Given the description of an element on the screen output the (x, y) to click on. 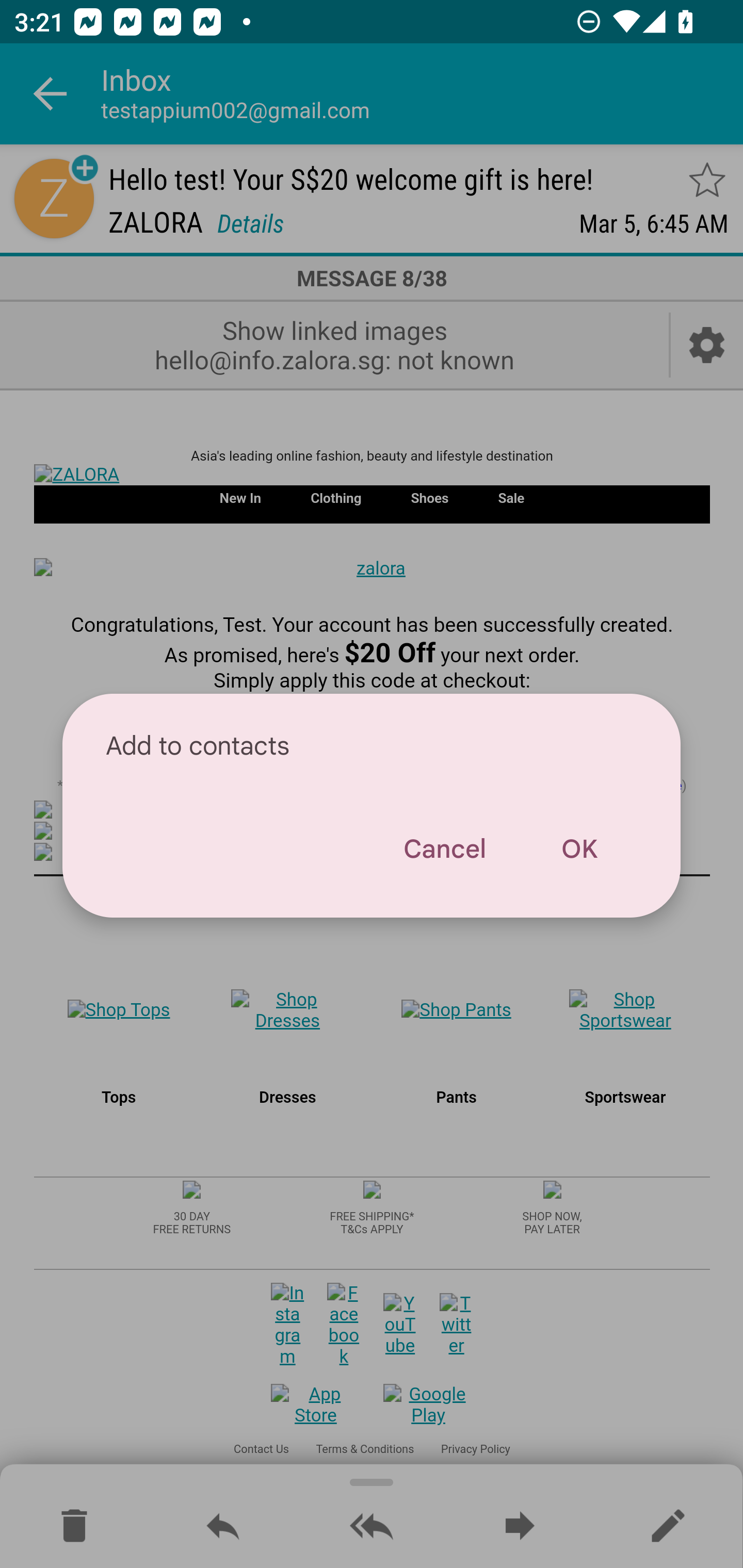
Cancel (444, 848)
OK (579, 848)
